Given the description of an element on the screen output the (x, y) to click on. 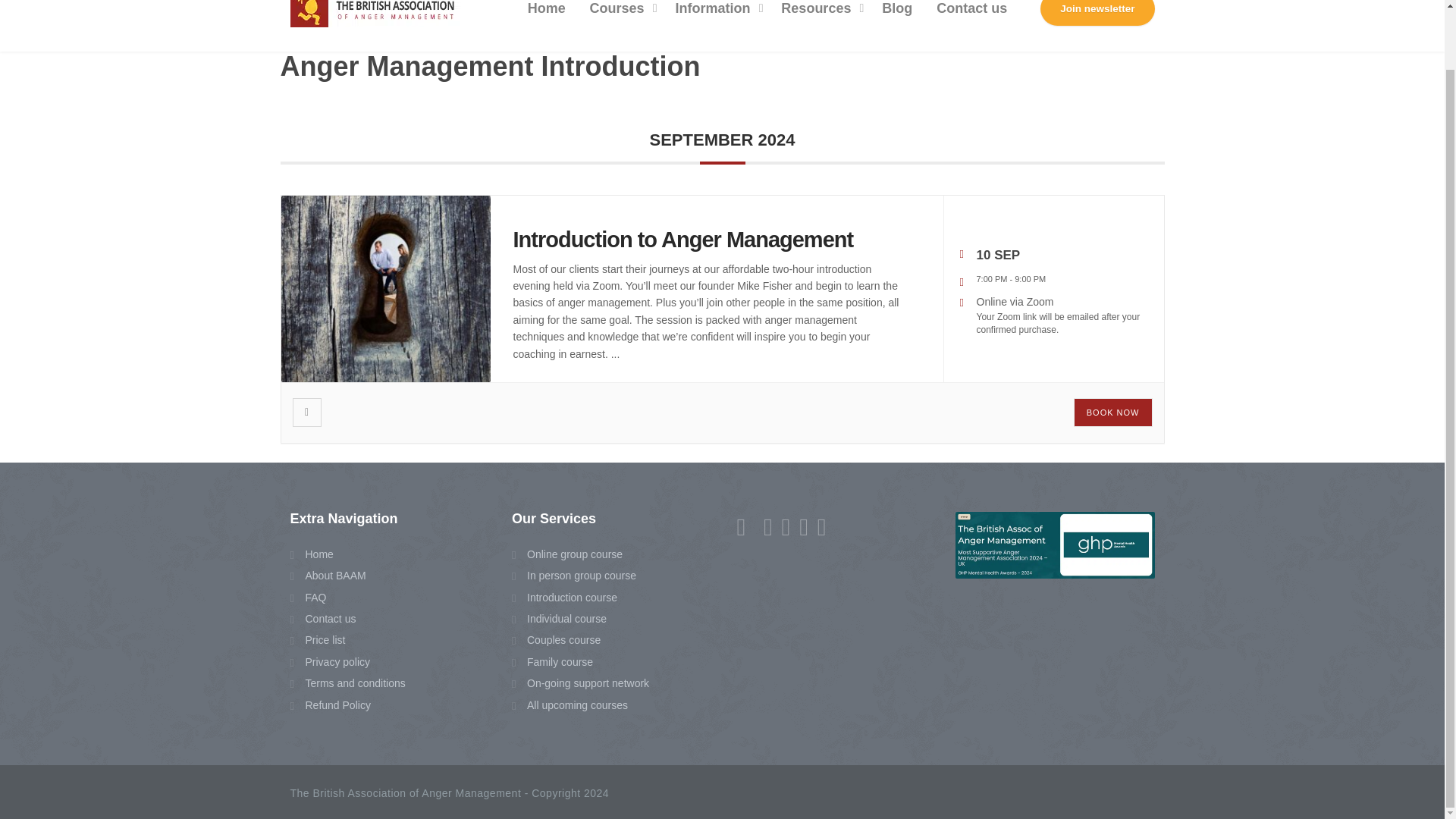
Courses (620, 25)
Resources (818, 25)
Home (546, 25)
social share (306, 411)
The British Association of Anger Management (374, 25)
Information (715, 25)
